Given the description of an element on the screen output the (x, y) to click on. 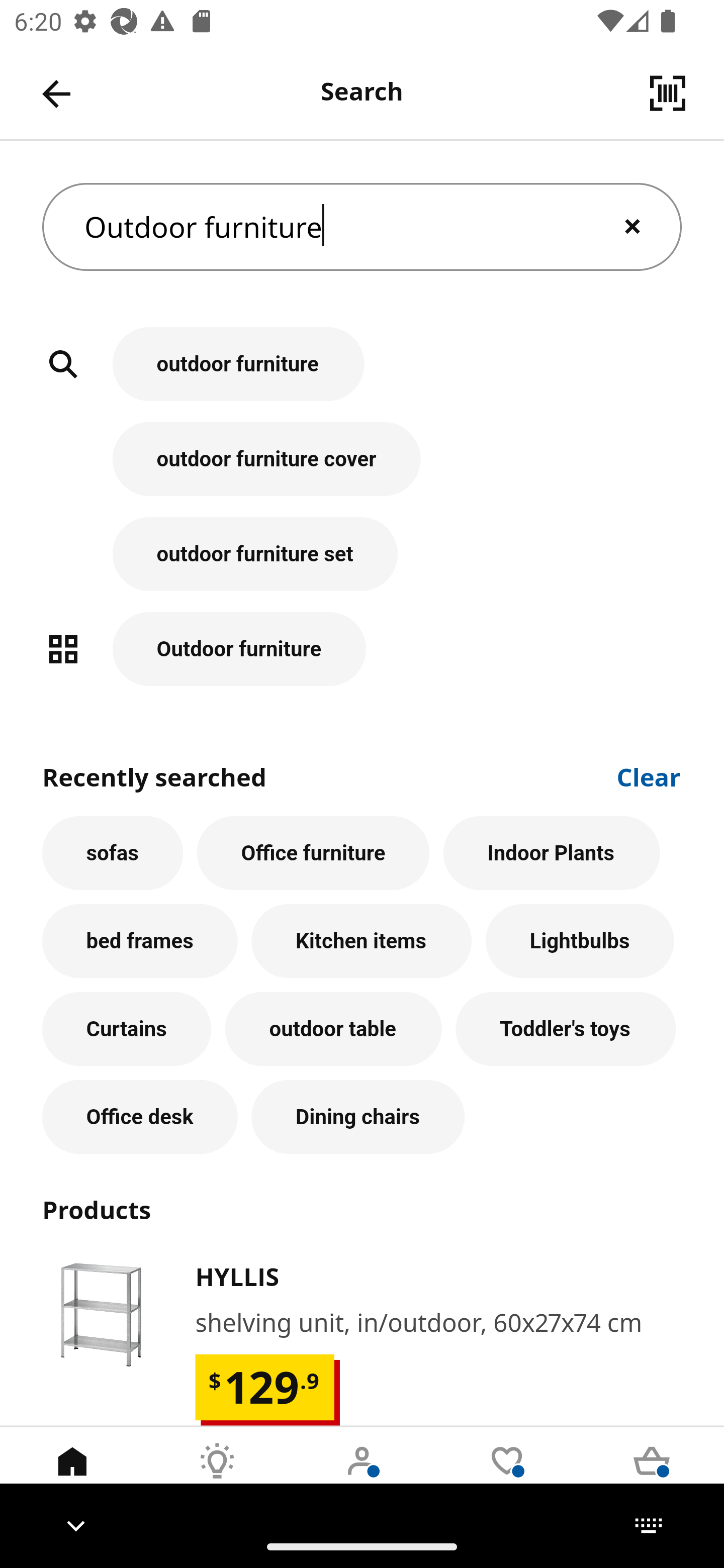
Outdoor furniture (361, 227)
outdoor furniture (361, 374)
outdoor furniture cover (361, 469)
outdoor furniture set (361, 564)
Outdoor furniture (361, 648)
Clear (649, 774)
sofas (112, 853)
Office furniture (312, 853)
Indoor Plants (551, 853)
bed frames (139, 941)
Kitchen items (361, 941)
Lightbulbs (579, 941)
Curtains (126, 1029)
outdoor table (333, 1029)
Toddler's toys (565, 1029)
Office desk (139, 1117)
Dining chairs (357, 1117)
Home
Tab 1 of 5 (72, 1476)
Inspirations
Tab 2 of 5 (216, 1476)
User
Tab 3 of 5 (361, 1476)
Wishlist
Tab 4 of 5 (506, 1476)
Cart
Tab 5 of 5 (651, 1476)
